Given the description of an element on the screen output the (x, y) to click on. 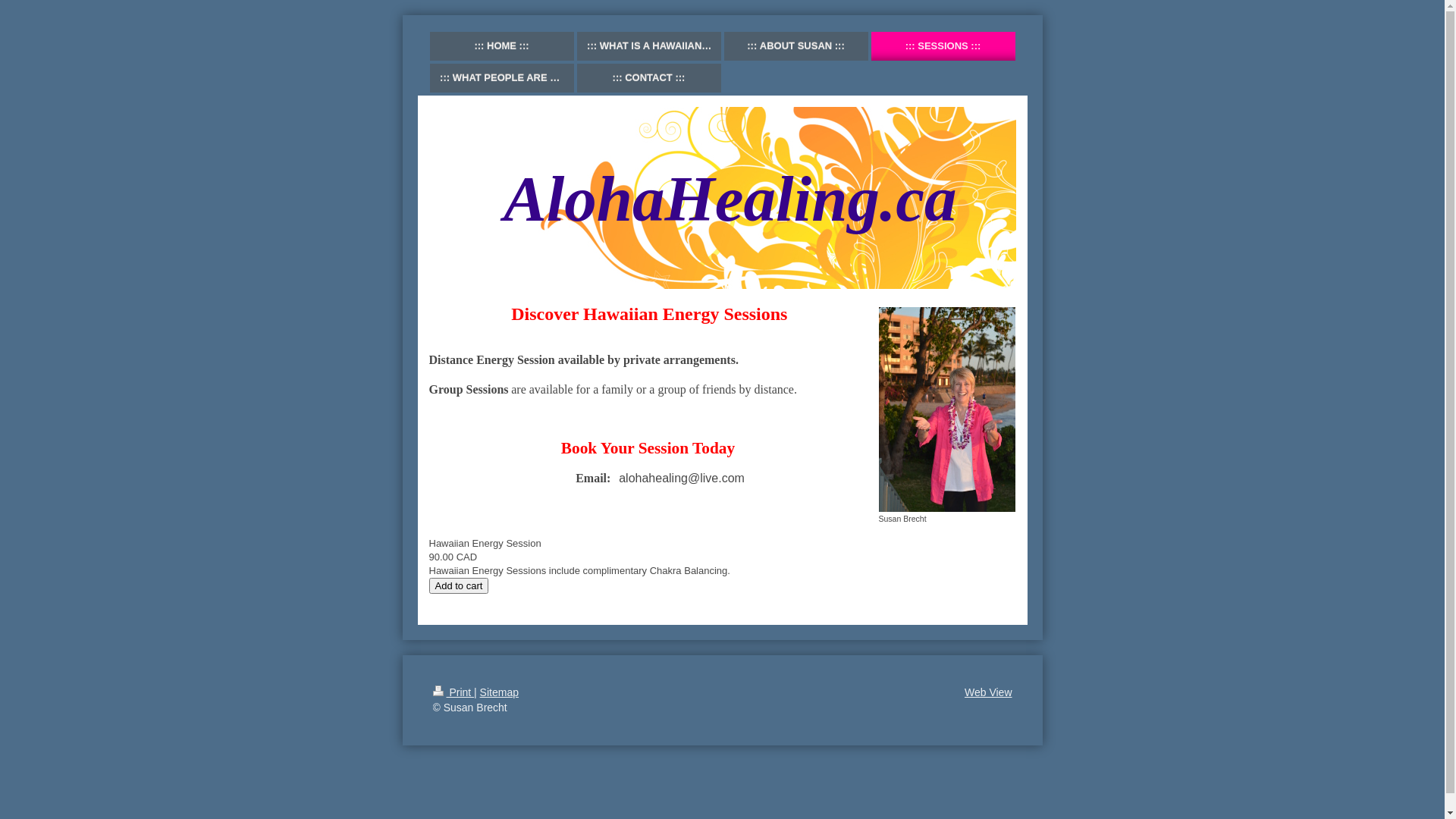
HOME Element type: text (501, 45)
CONTACT Element type: text (648, 77)
WHAT PEOPLE ARE SAYING Element type: text (501, 77)
Print Element type: text (452, 692)
Susan Brecht Element type: hover (946, 415)
Add to cart Element type: text (459, 585)
Web View Element type: text (988, 692)
Sitemap Element type: text (499, 692)
WHAT IS A HAWAIIAN ENERGY SESSION? Element type: text (648, 45)
SESSIONS Element type: text (942, 45)
ABOUT SUSAN Element type: text (795, 45)
